Given the description of an element on the screen output the (x, y) to click on. 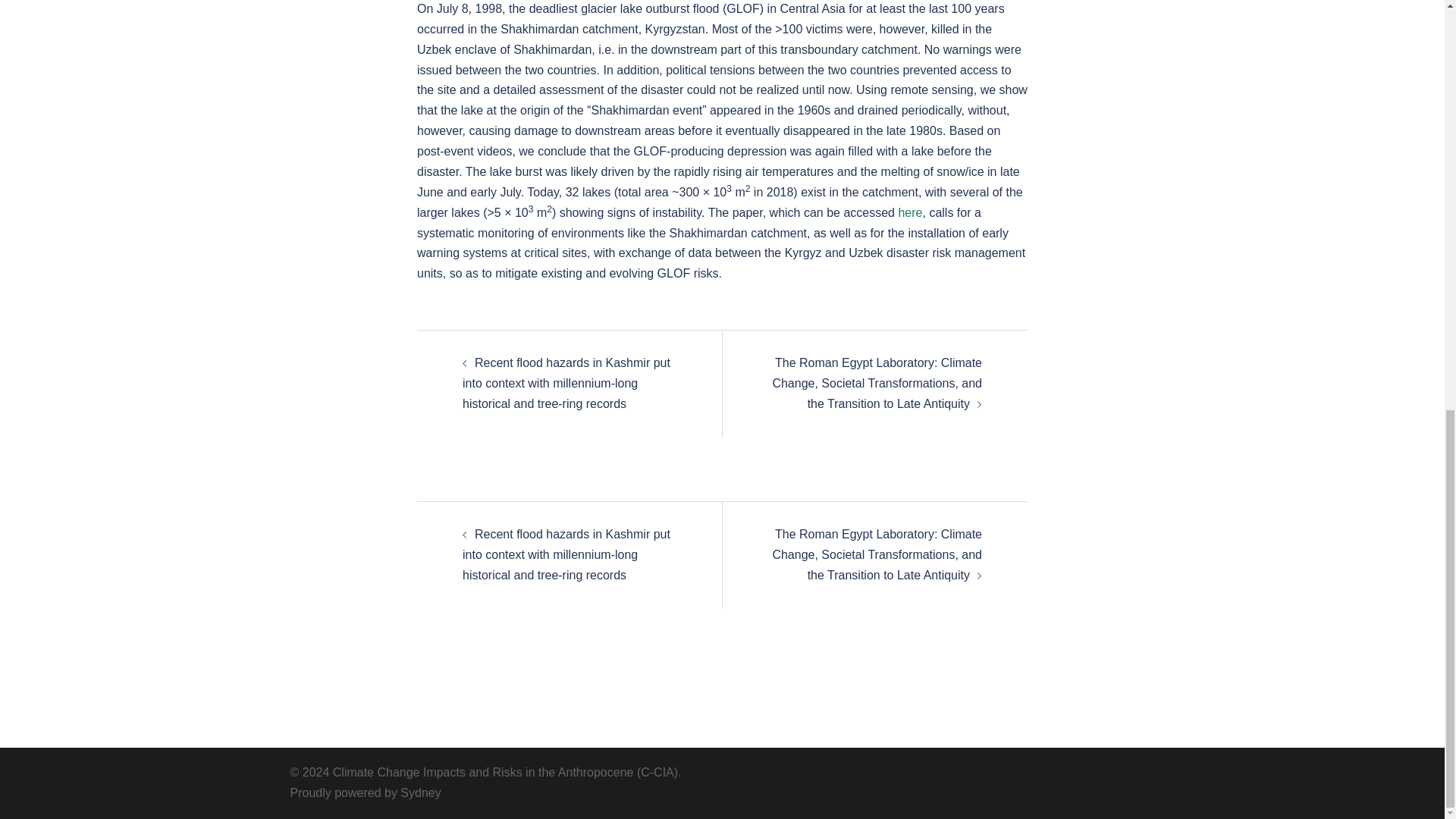
Sydney (420, 792)
here (909, 212)
